Given the description of an element on the screen output the (x, y) to click on. 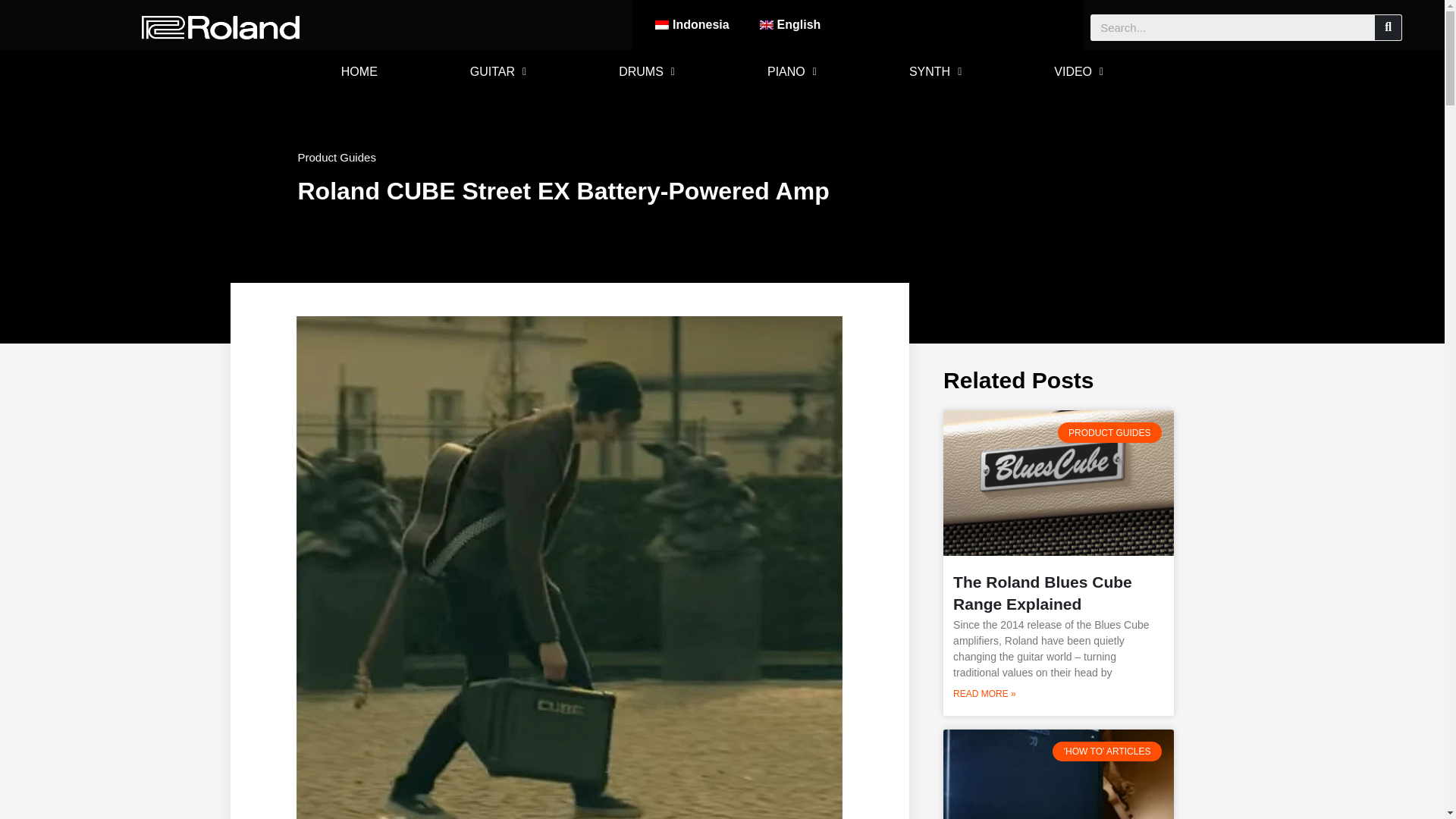
HOME (359, 71)
English (789, 24)
GUITAR (497, 71)
Search (1387, 27)
DRUMS (646, 71)
Indonesia (692, 24)
English (789, 24)
Indonesia (692, 24)
